Given the description of an element on the screen output the (x, y) to click on. 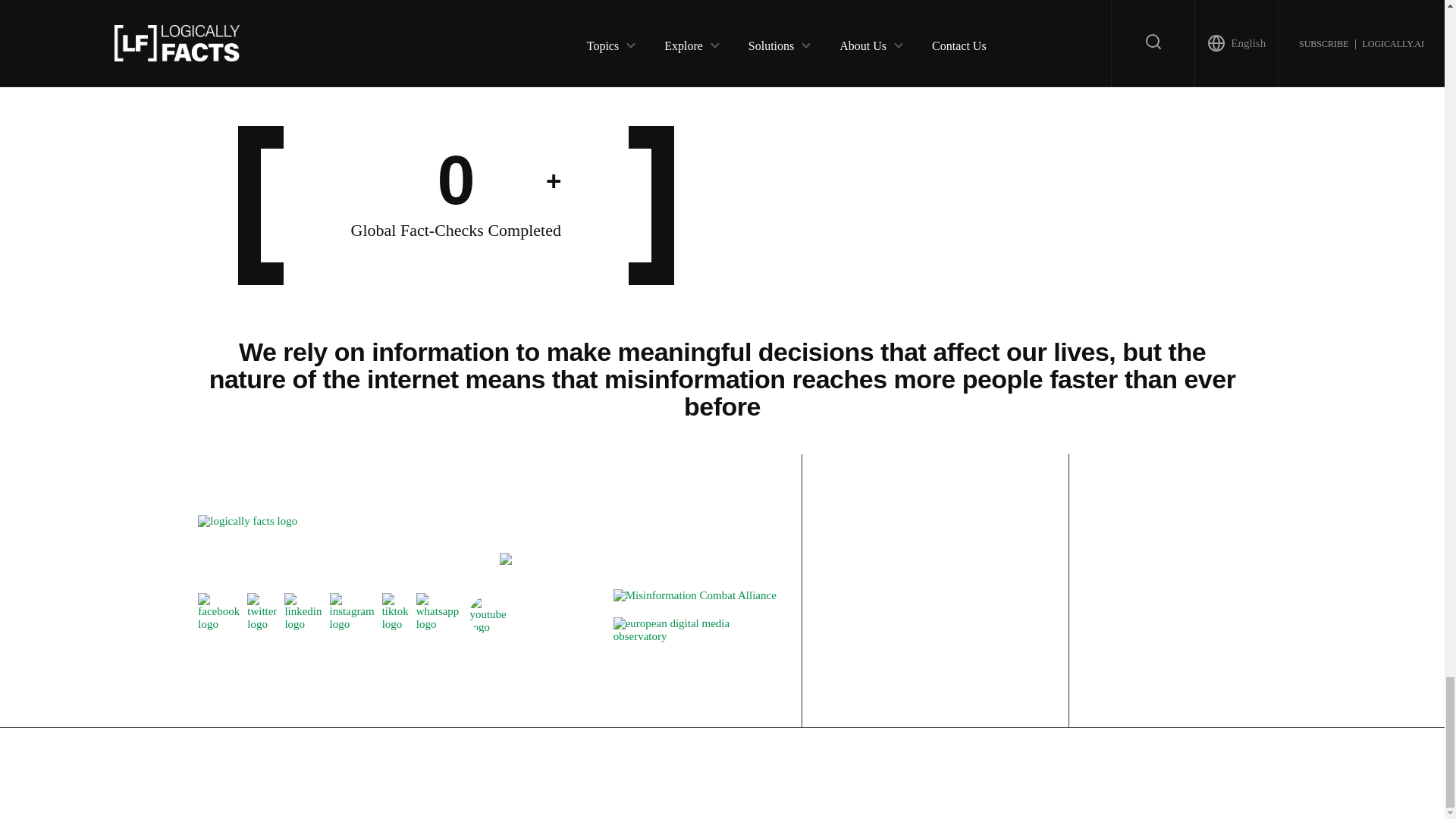
IFCN signatory (505, 561)
